Given the description of an element on the screen output the (x, y) to click on. 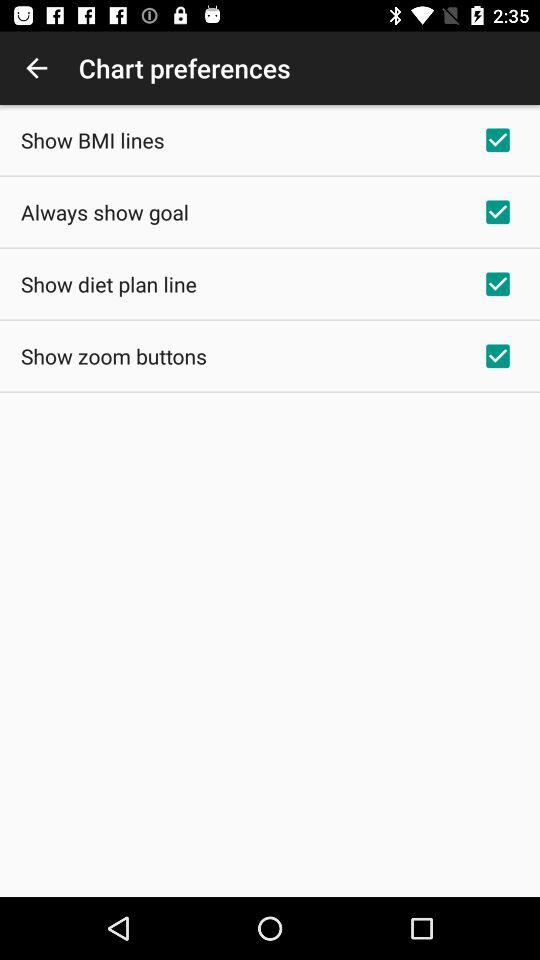
tap item below show bmi lines app (104, 211)
